Given the description of an element on the screen output the (x, y) to click on. 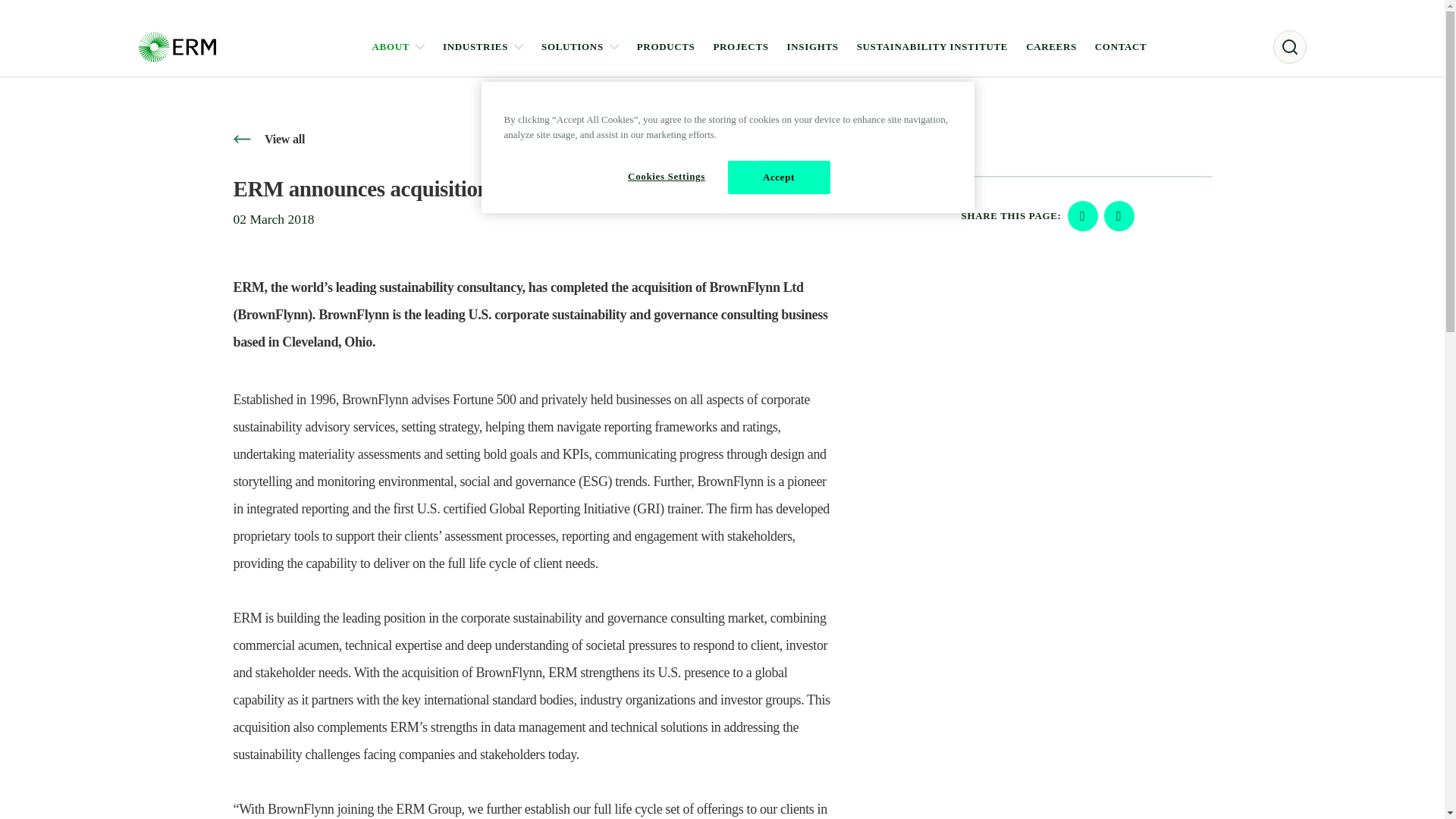
INDUSTRIES (482, 47)
Industries (482, 47)
ERM Logo (176, 46)
About (398, 47)
ABOUT (398, 47)
SOLUTIONS (579, 47)
